Given the description of an element on the screen output the (x, y) to click on. 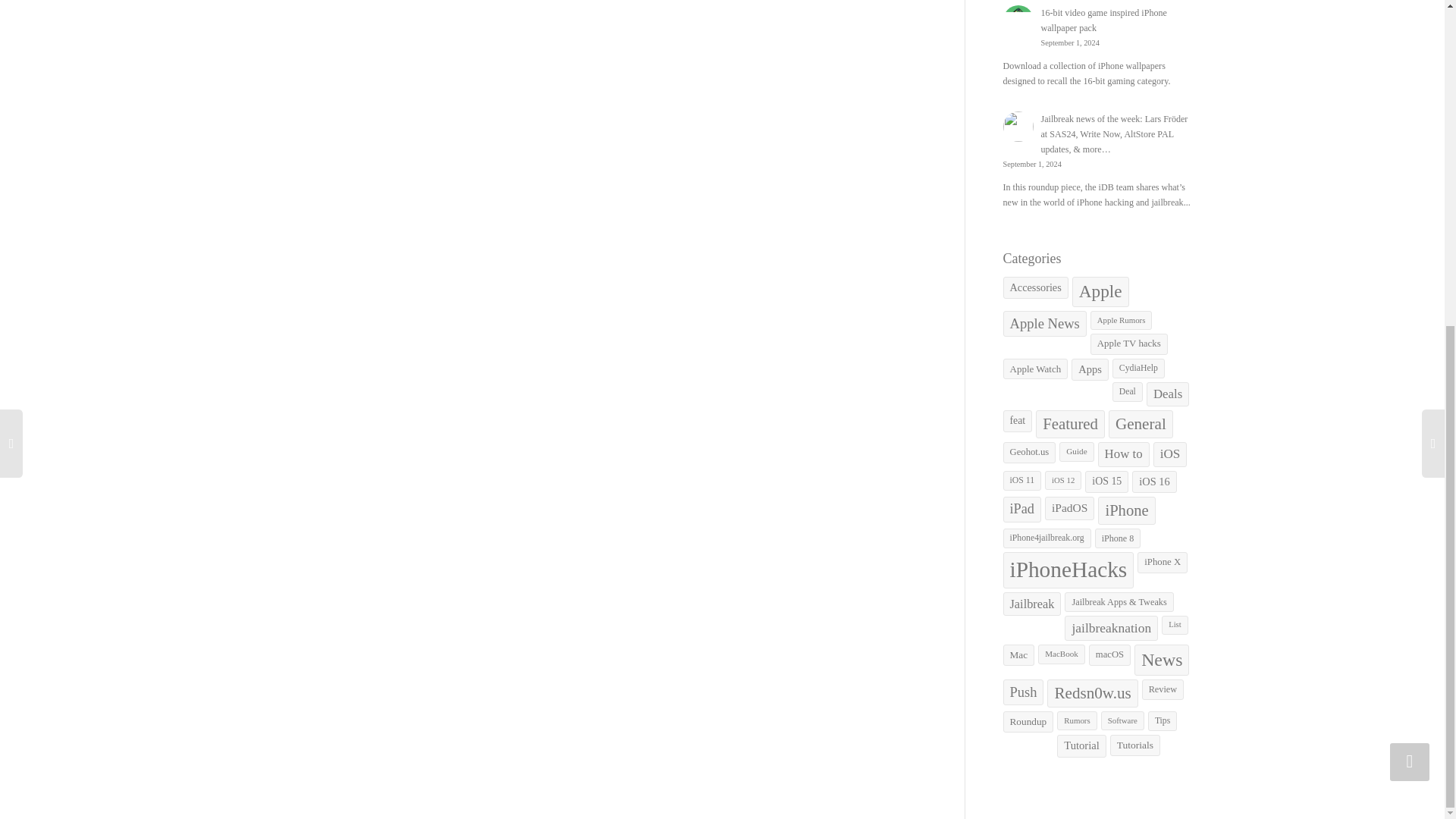
Apple (1100, 291)
Apple Rumors (1121, 320)
Apple TV hacks (1128, 343)
Accessories (1035, 287)
Apple News (1044, 323)
